Given the description of an element on the screen output the (x, y) to click on. 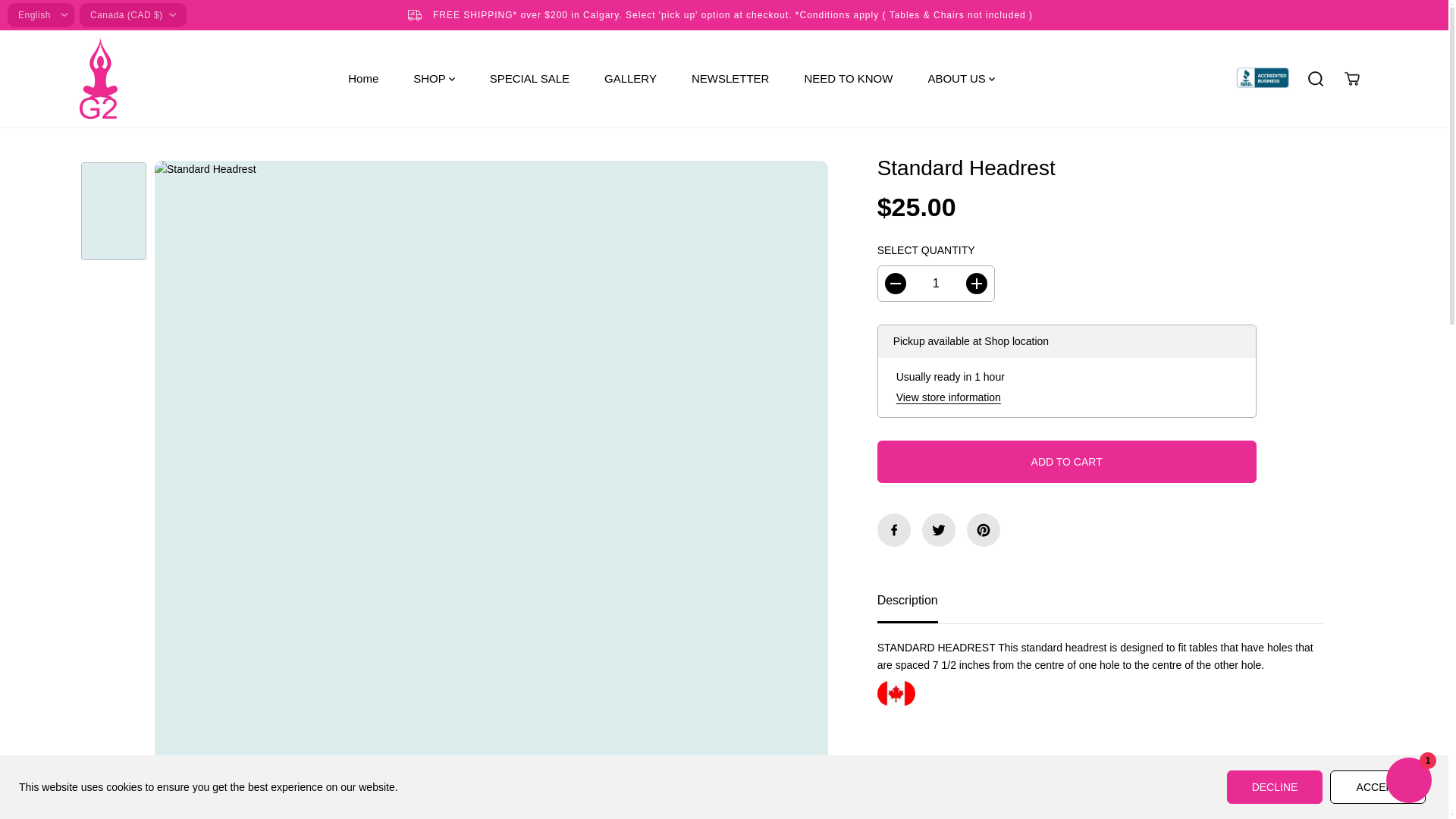
Twitter (938, 530)
Search (1315, 78)
Pinterest (983, 530)
Facebook (894, 530)
Cart (1351, 78)
1 (935, 283)
SKIP TO CONTENT (60, 18)
